Given the description of an element on the screen output the (x, y) to click on. 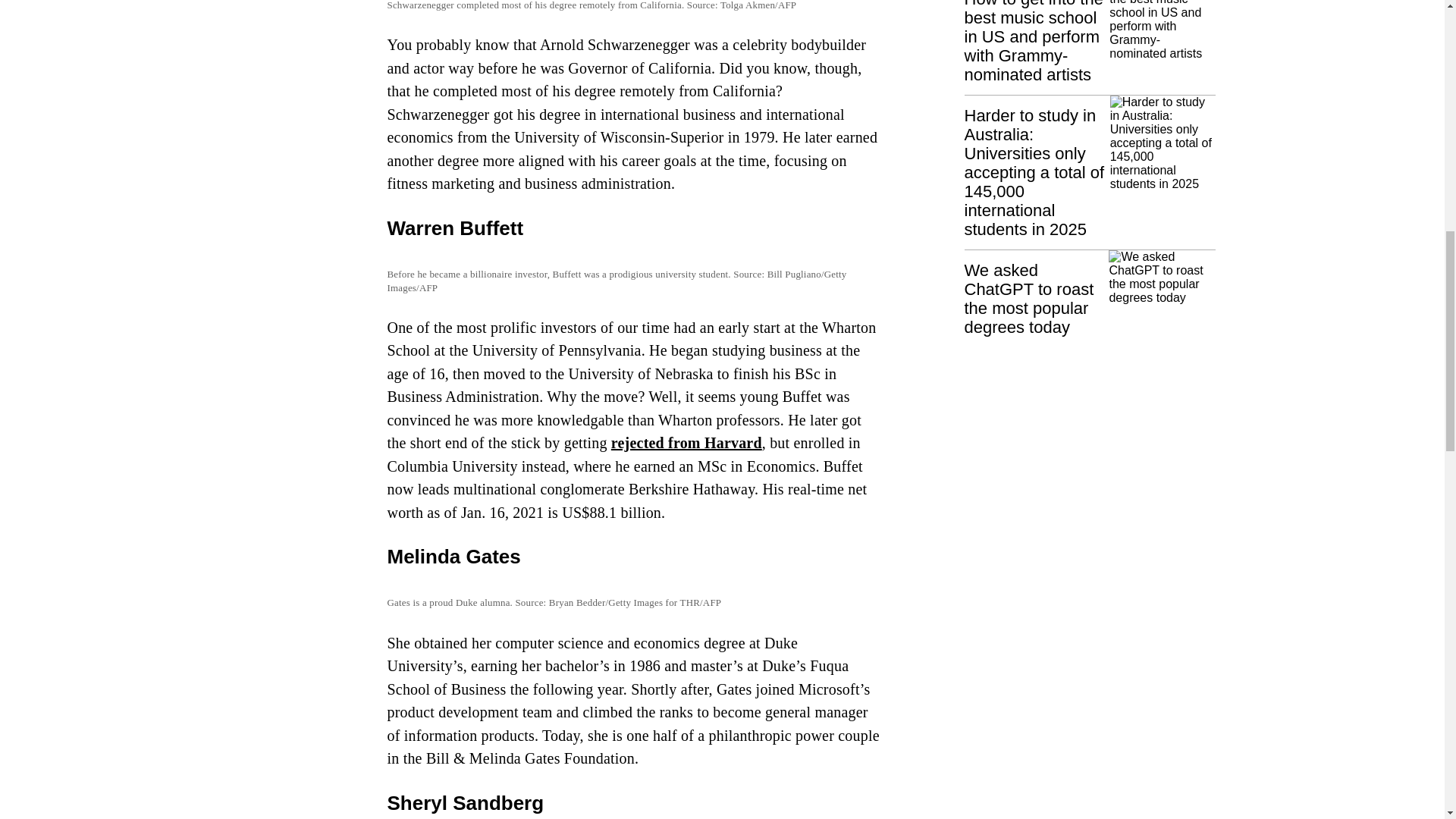
We asked ChatGPT to roast the most popular degrees today (1089, 292)
rejected from Harvard (686, 442)
